Given the description of an element on the screen output the (x, y) to click on. 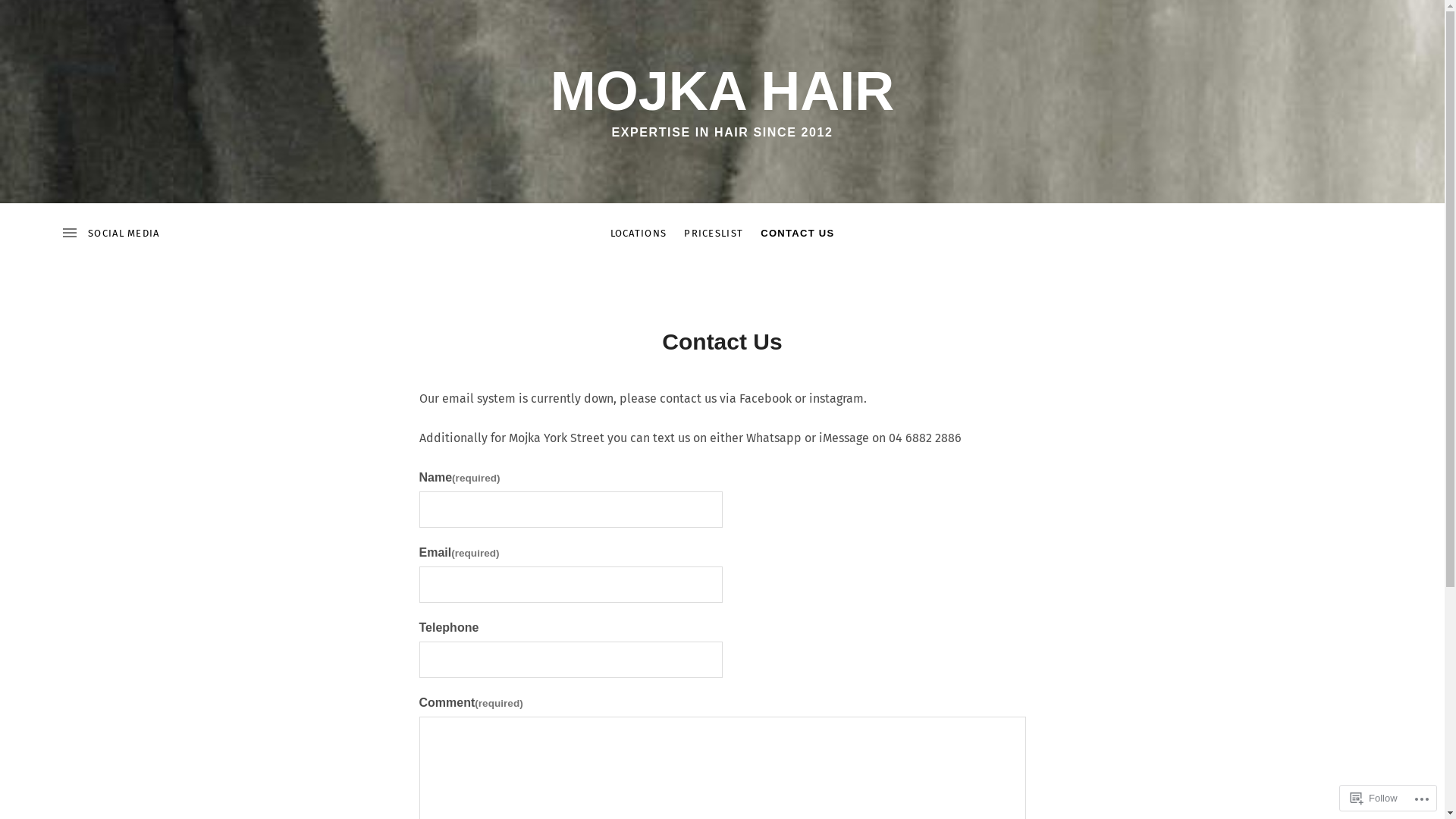
Follow Element type: text (1373, 797)
Search Element type: text (39, 18)
LOCATIONS Element type: text (638, 233)
PRICESLIST Element type: text (713, 233)
CONTACT US Element type: text (797, 233)
MOJKA HAIR Element type: text (722, 90)
